Given the description of an element on the screen output the (x, y) to click on. 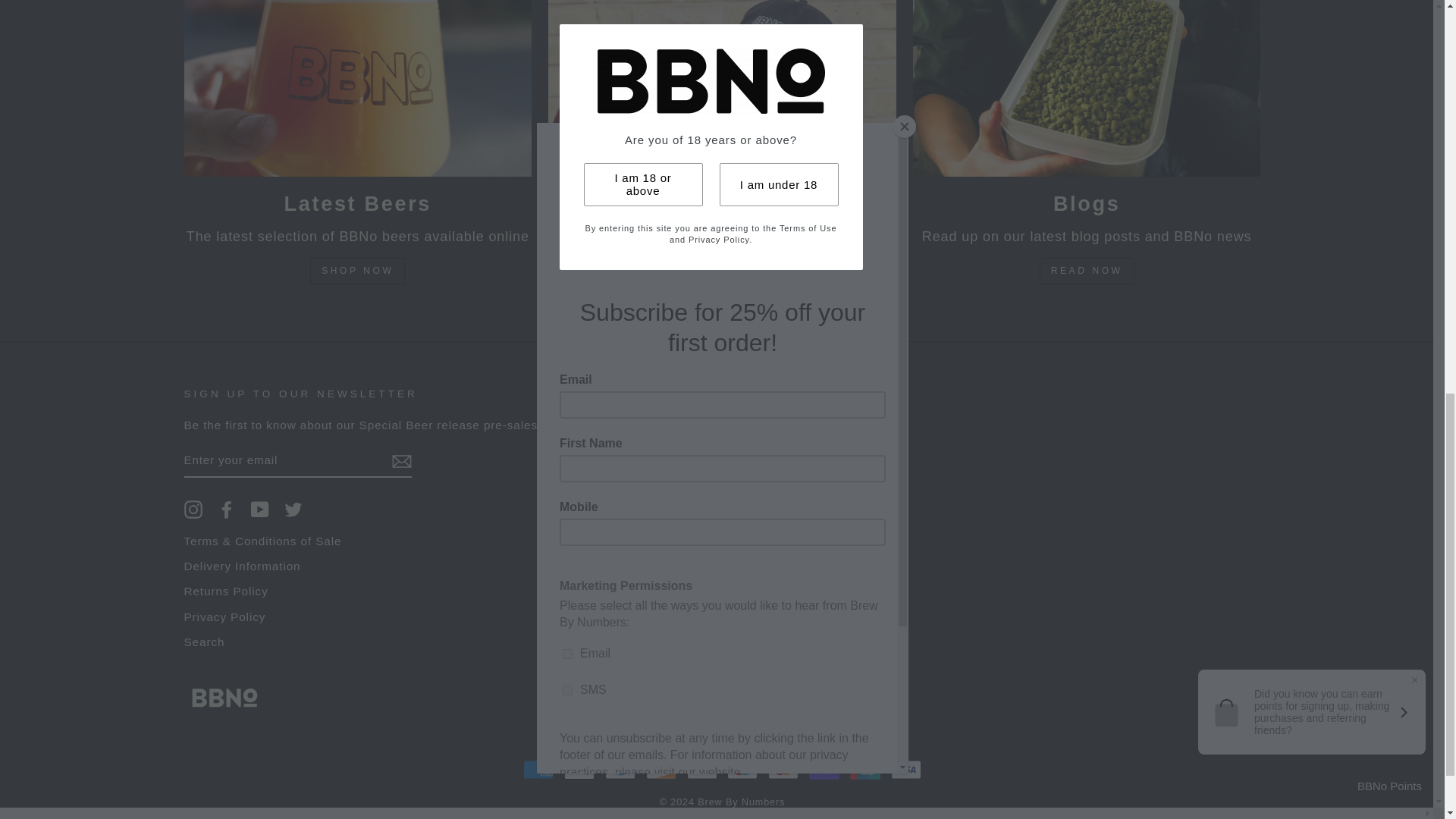
American Express (537, 769)
Brew By Numbers on Instagram (192, 509)
Brew By Numbers on Twitter (292, 509)
Brew By Numbers on Facebook (225, 509)
Brew By Numbers on YouTube (259, 509)
